Given the description of an element on the screen output the (x, y) to click on. 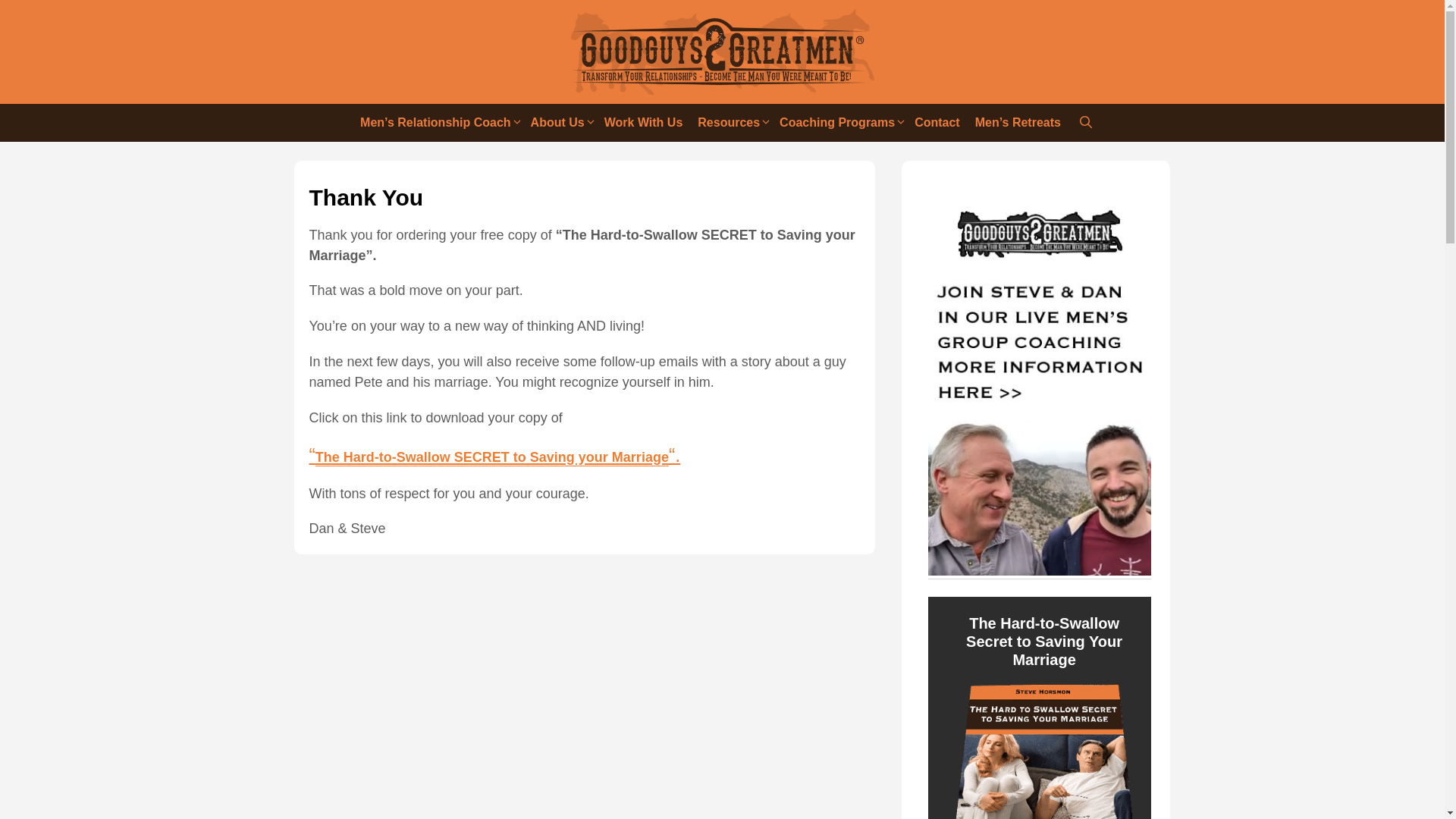
Resources (730, 122)
About Us (559, 122)
Work With Us (643, 122)
